Given the description of an element on the screen output the (x, y) to click on. 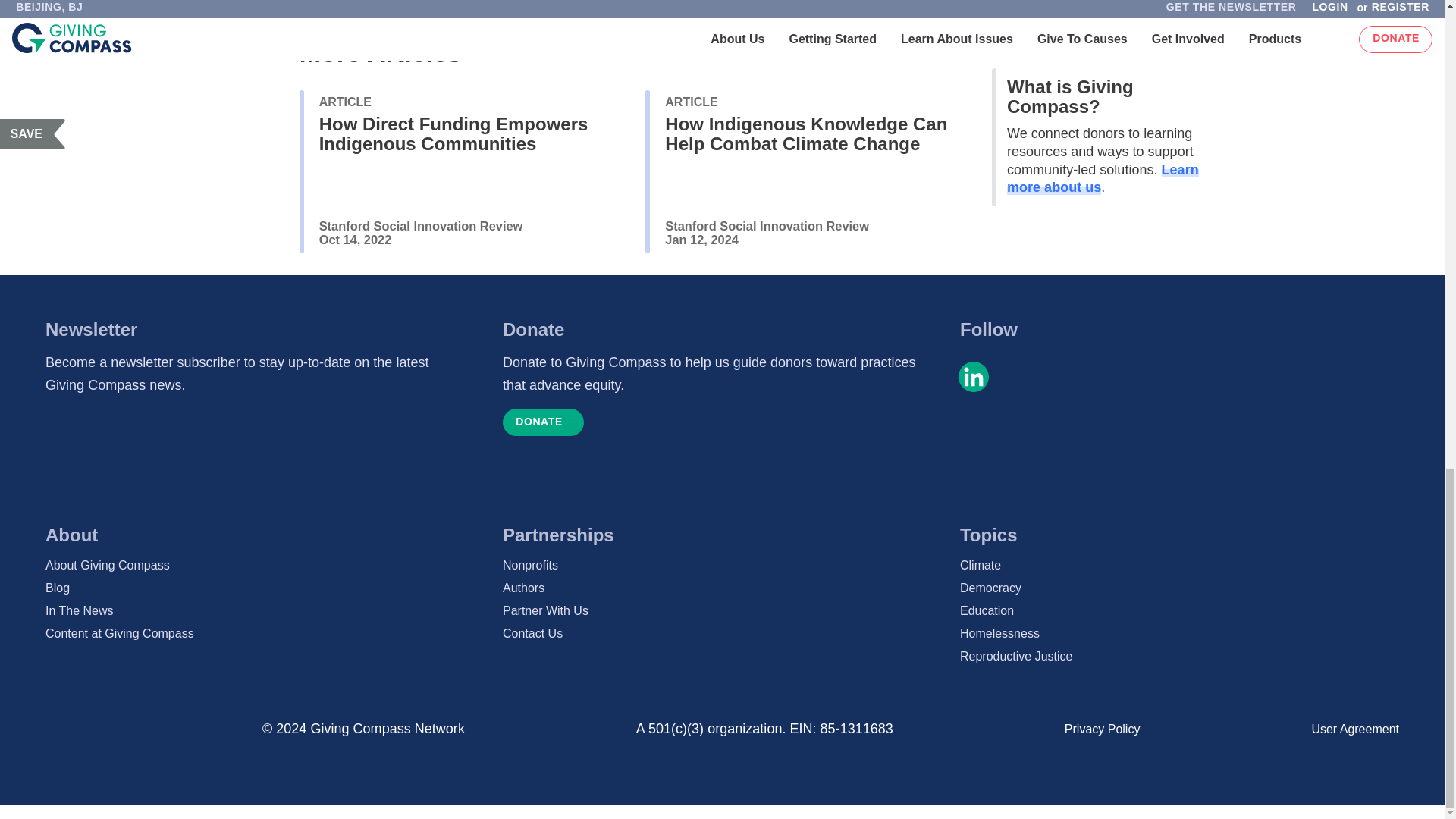
Gender Equity (535, 0)
Democracy (1179, 588)
Climate (1179, 565)
North America (429, 0)
Blog (264, 588)
Content at Giving Compass (264, 633)
Reproductive Justice (1179, 656)
Nonprofits (722, 565)
Authors (722, 588)
Form 0 (254, 457)
Partner With Us (722, 610)
Education (1179, 610)
About Giving Compass (264, 565)
